Given the description of an element on the screen output the (x, y) to click on. 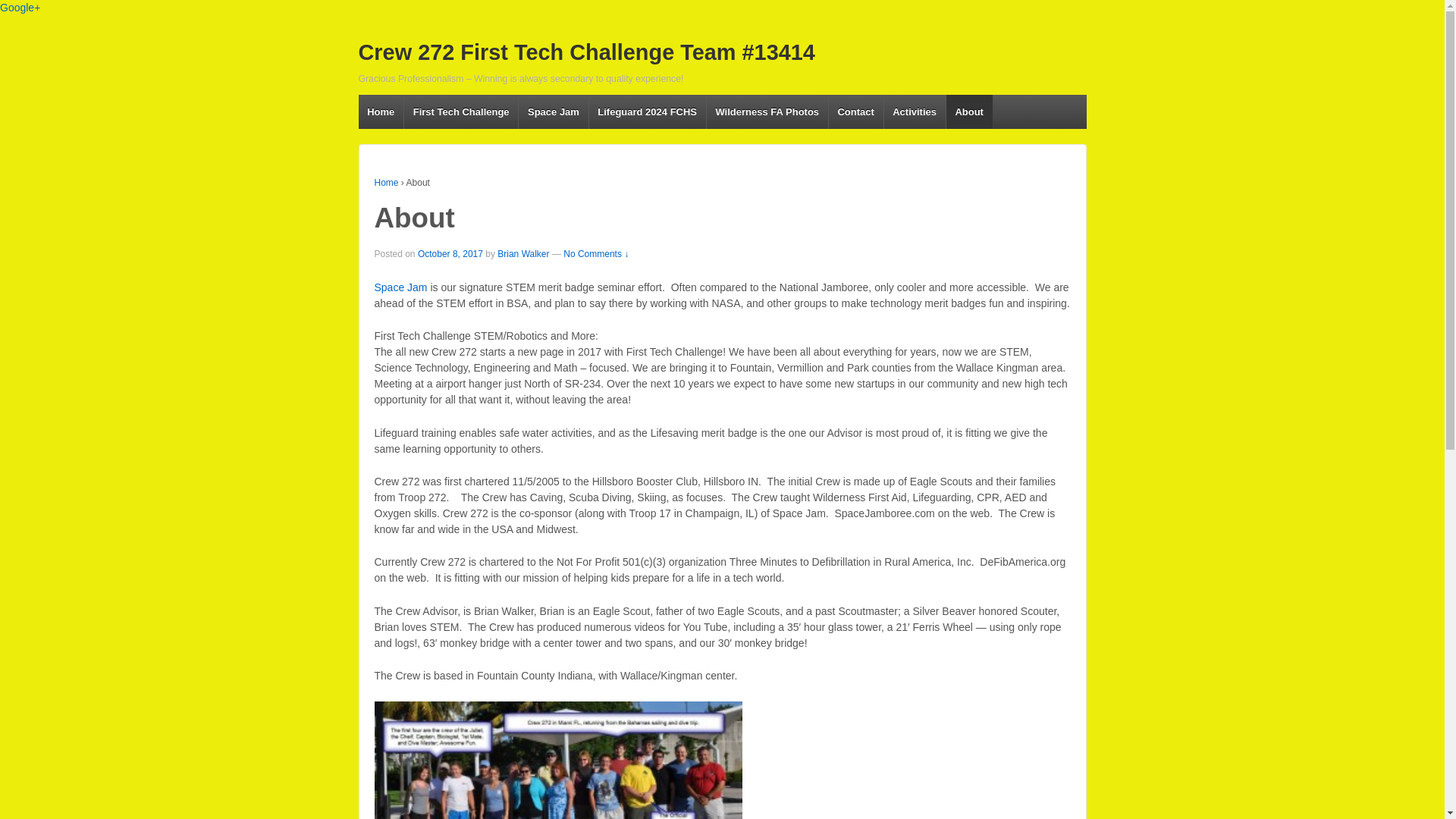
Comment on About (595, 253)
October 8, 2017 (450, 253)
Brian Walker (522, 253)
About (450, 253)
Home (386, 182)
Space Jam (401, 287)
View all posts by Brian Walker (522, 253)
Home (380, 111)
Lifeguard 2024 FCHS (647, 111)
Activities (913, 111)
